Given the description of an element on the screen output the (x, y) to click on. 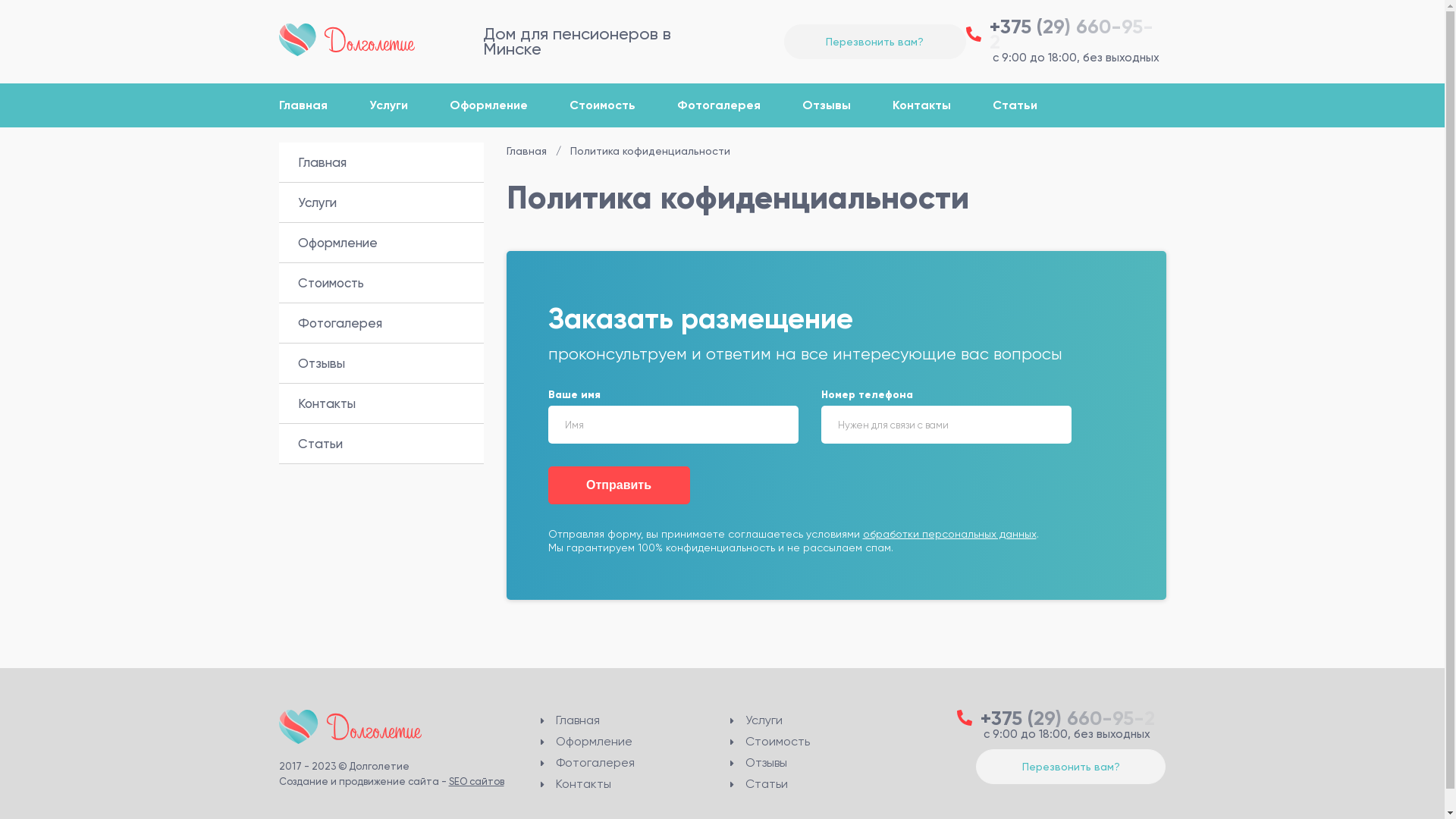
+375 (29) 660-95-2 Element type: text (1061, 717)
+375 (29) 660-95-2 Element type: text (1066, 33)
